Given the description of an element on the screen output the (x, y) to click on. 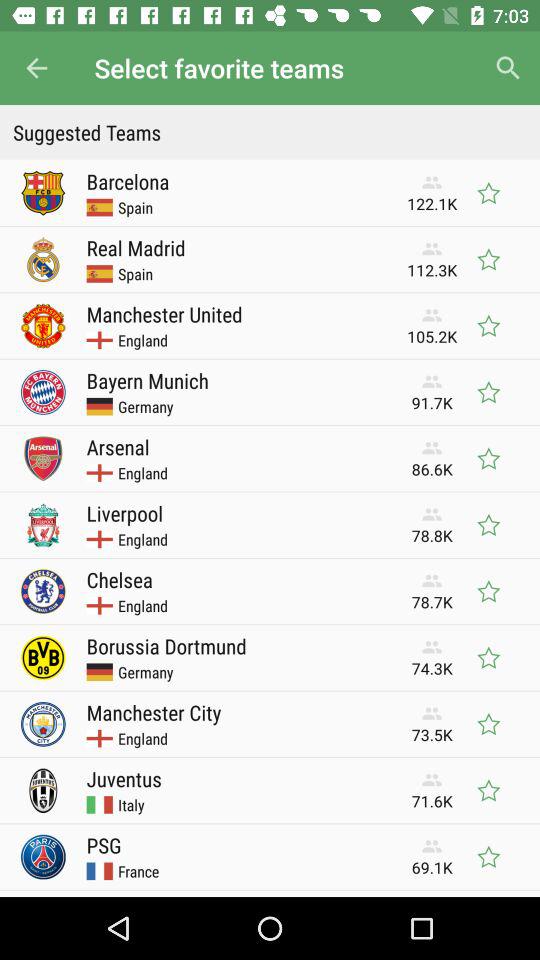
choose psg (103, 845)
